Given the description of an element on the screen output the (x, y) to click on. 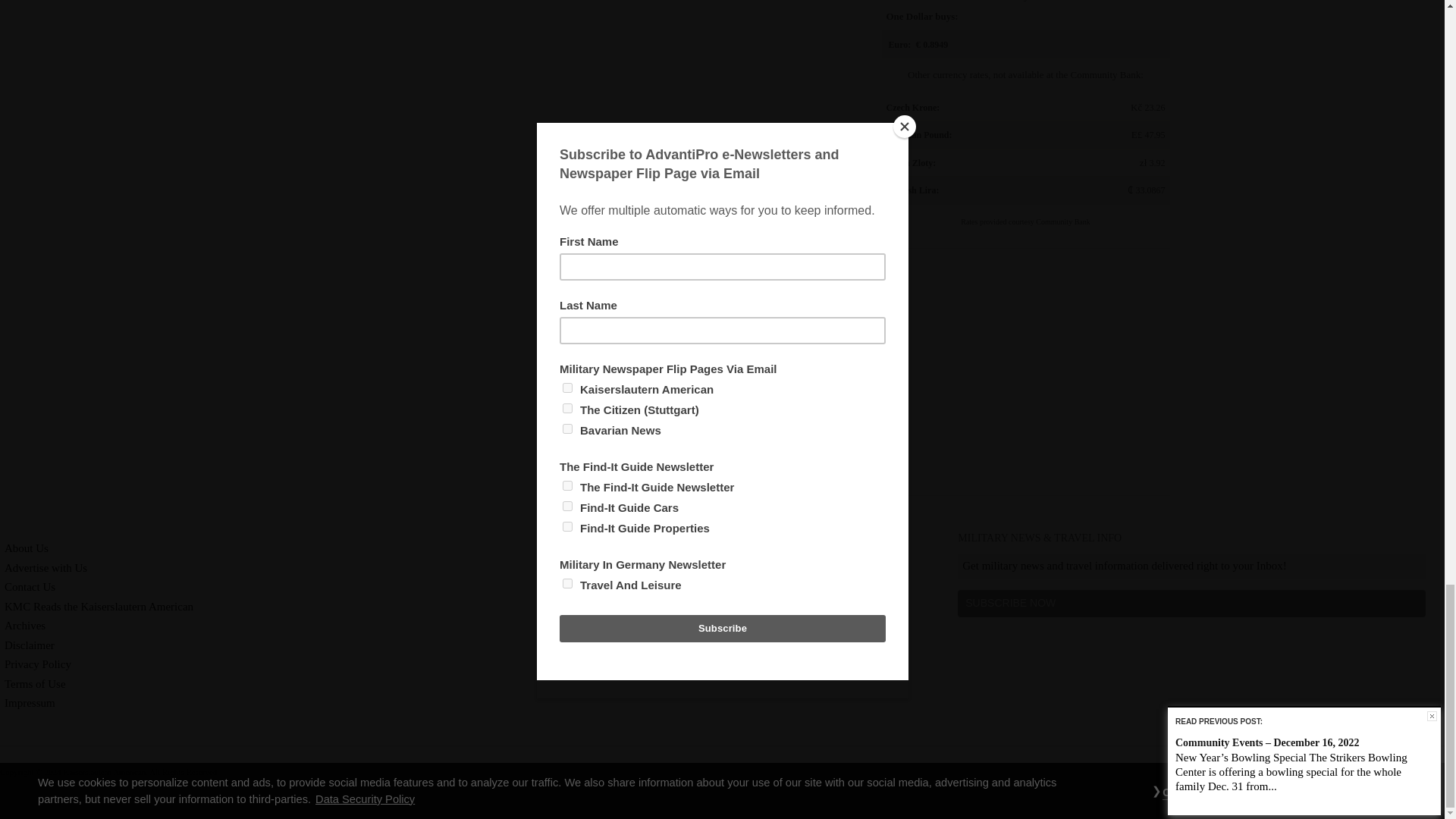
3rd party ad content (1025, 373)
